Given the description of an element on the screen output the (x, y) to click on. 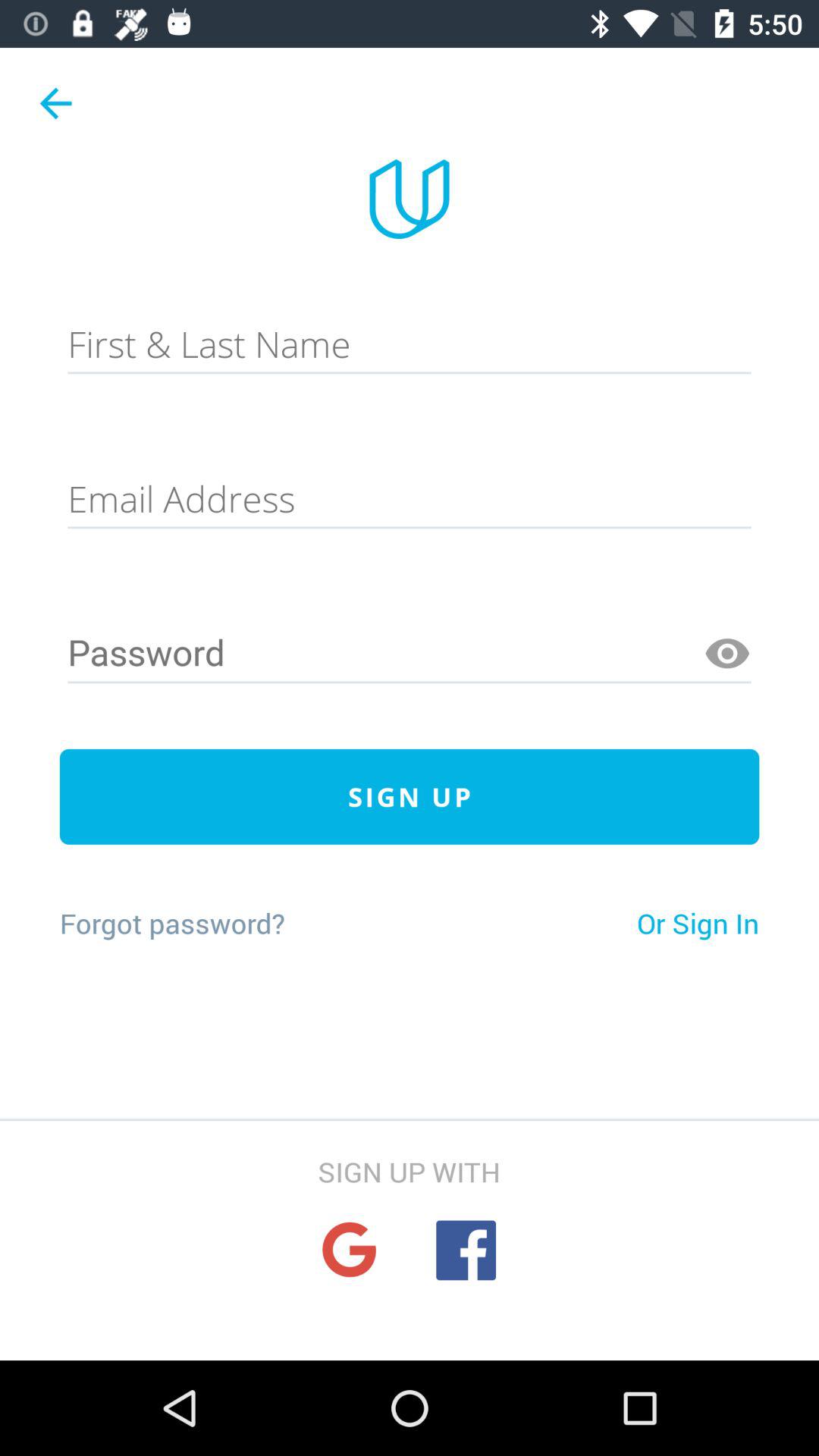
flip to forgot password? (171, 922)
